Given the description of an element on the screen output the (x, y) to click on. 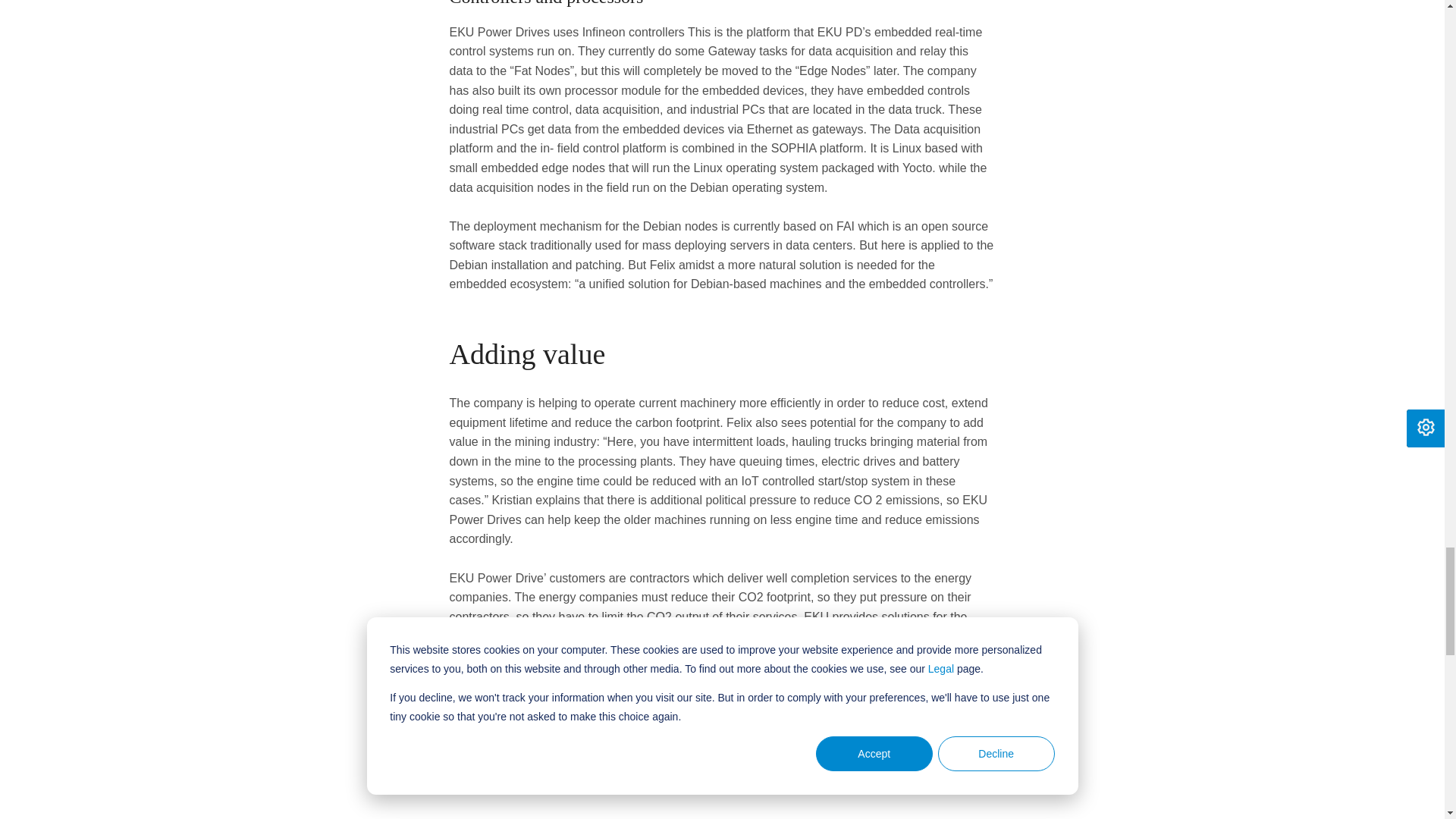
link (807, 771)
